Given the description of an element on the screen output the (x, y) to click on. 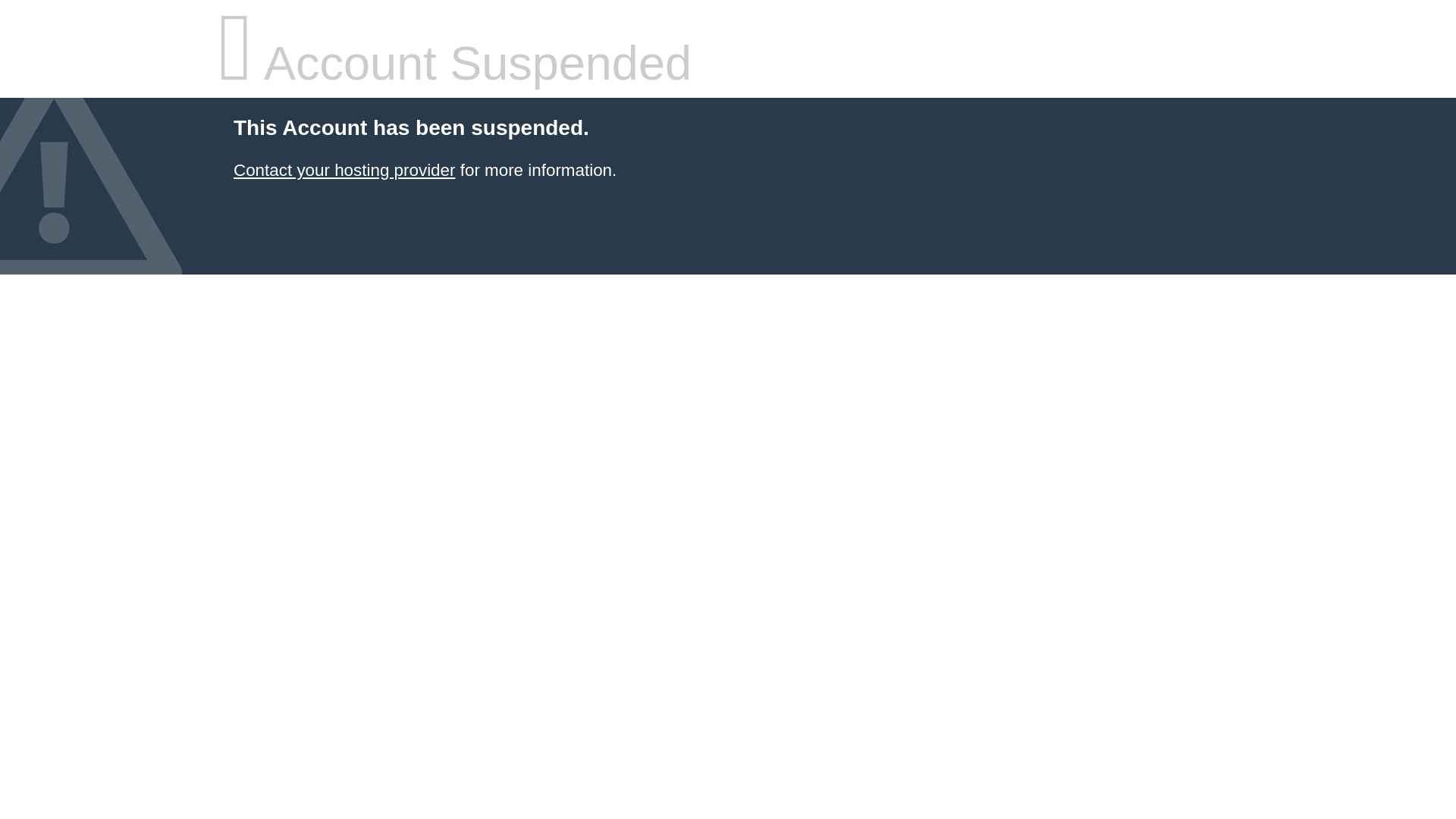
Contact your hosting provider (343, 169)
